Given the description of an element on the screen output the (x, y) to click on. 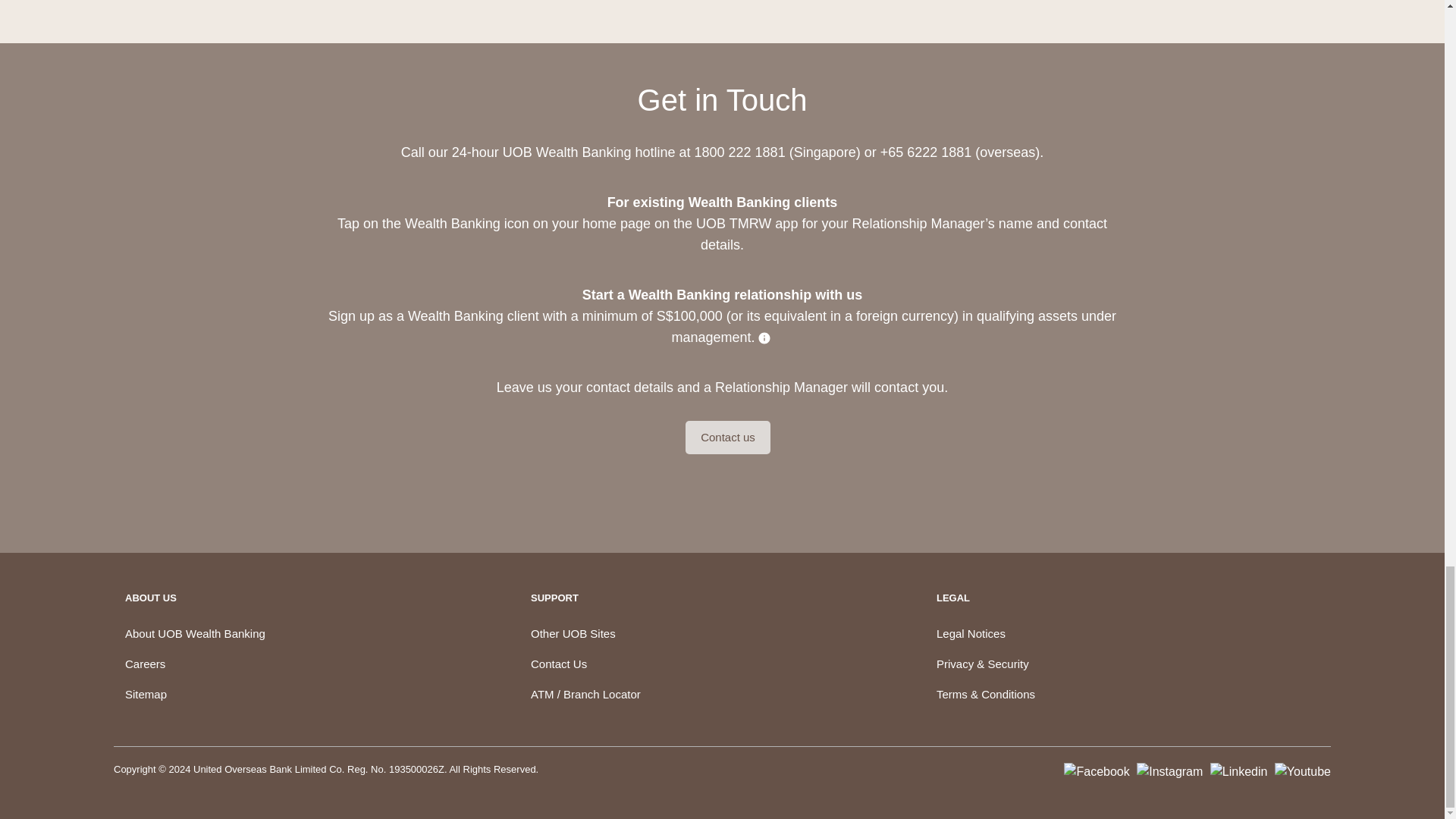
Linkedin (1238, 770)
Instagram (1169, 770)
Youtube (1302, 770)
Facebook (1096, 770)
